Given the description of an element on the screen output the (x, y) to click on. 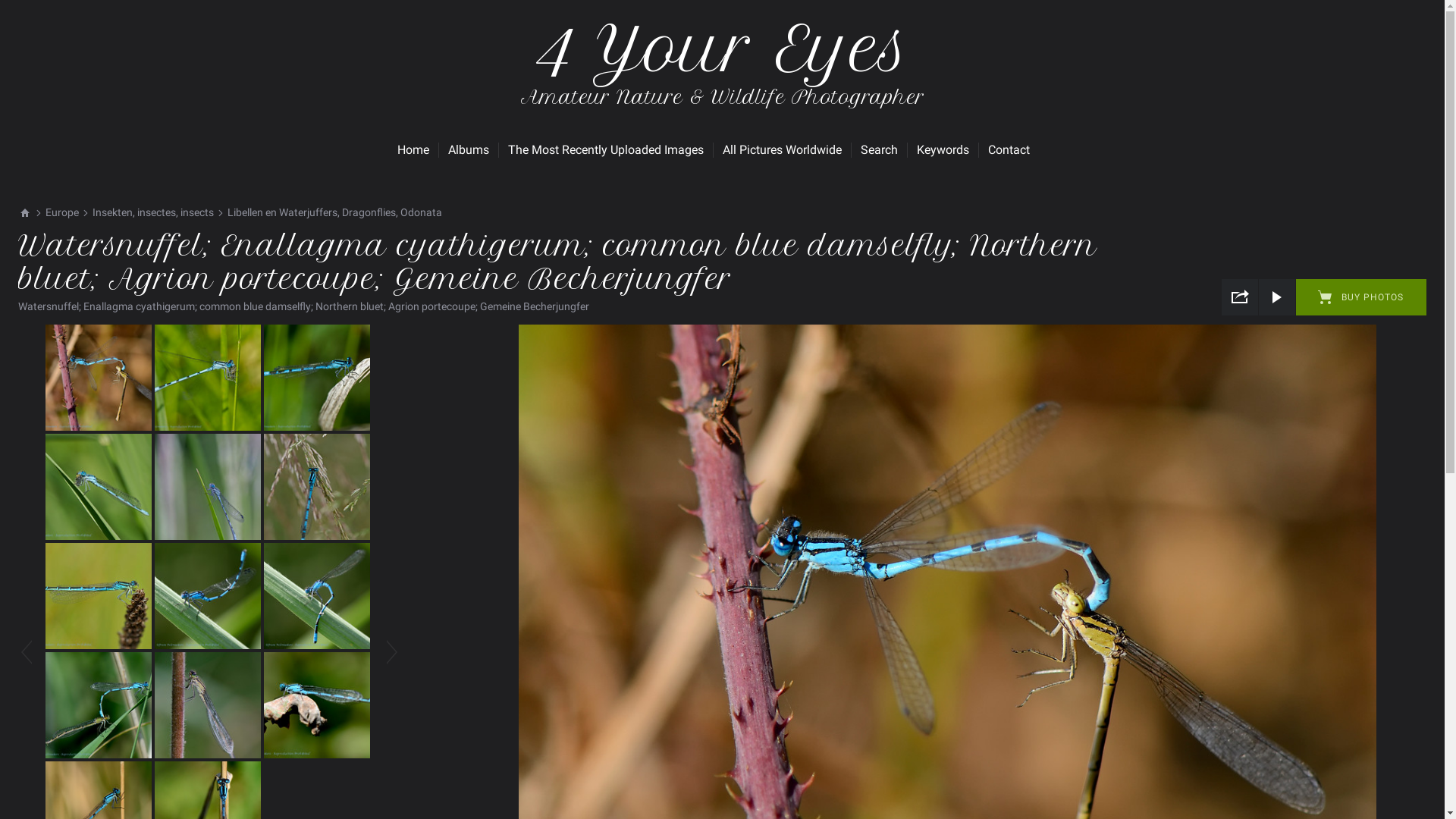
Europe Element type: text (61, 212)
Albums Element type: text (467, 149)
Libellen en Waterjuffers, Dragonflies, Odonata Element type: text (334, 212)
Home Element type: text (413, 149)
Contact Element type: text (1008, 149)
Insekten, insectes, insects Element type: text (152, 212)
The Most Recently Uploaded Images Element type: text (605, 149)
Share Gallery Element type: hover (1239, 297)
All Pictures Worldwide Element type: text (780, 149)
BUY PHOTOS Element type: text (1360, 297)
Search Element type: text (878, 149)
Keywords Element type: text (942, 149)
Slideshow Element type: hover (1276, 297)
4 Your Eyes Element type: text (722, 67)
